Given the description of an element on the screen output the (x, y) to click on. 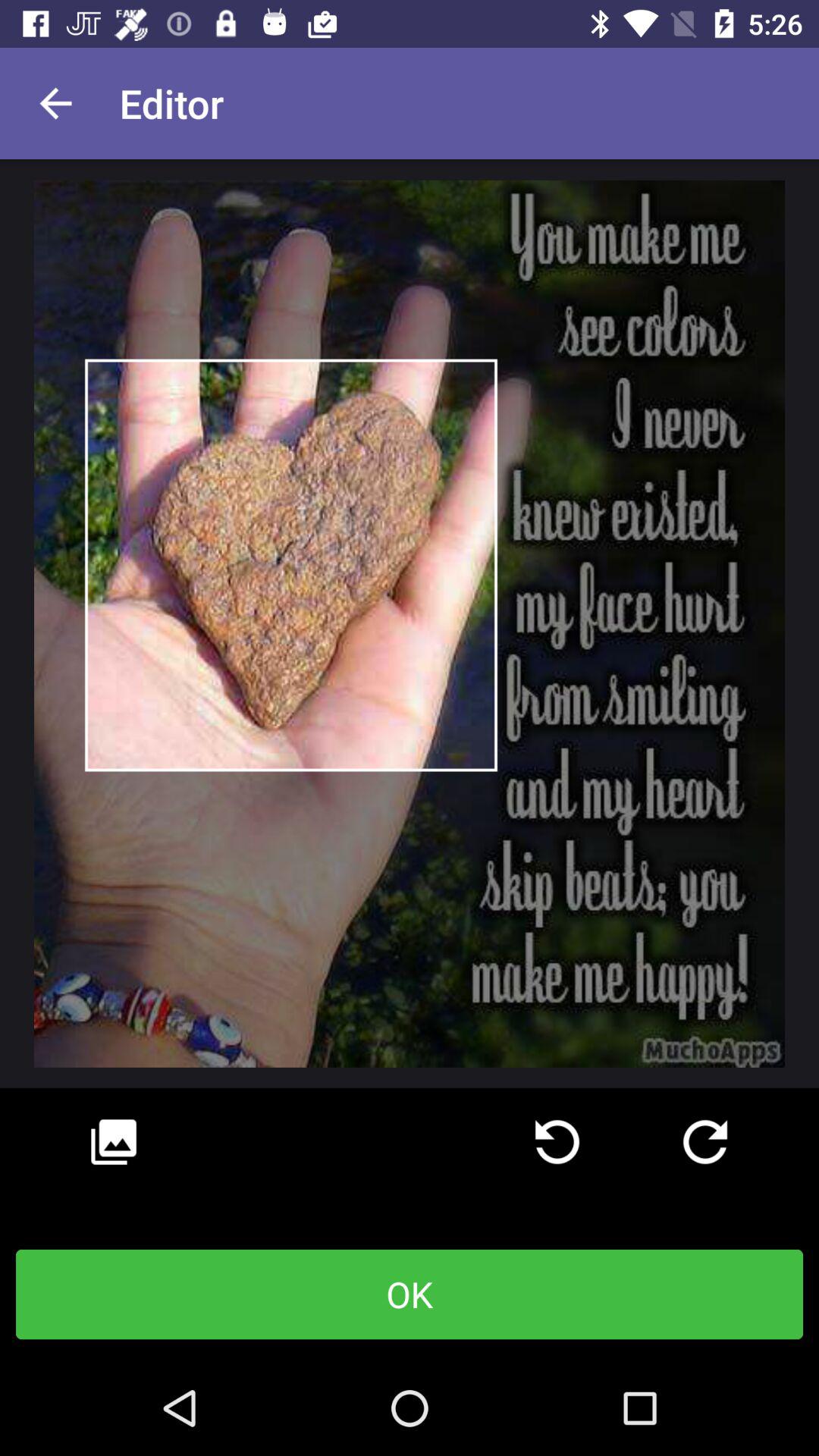
image select option (113, 1142)
